Given the description of an element on the screen output the (x, y) to click on. 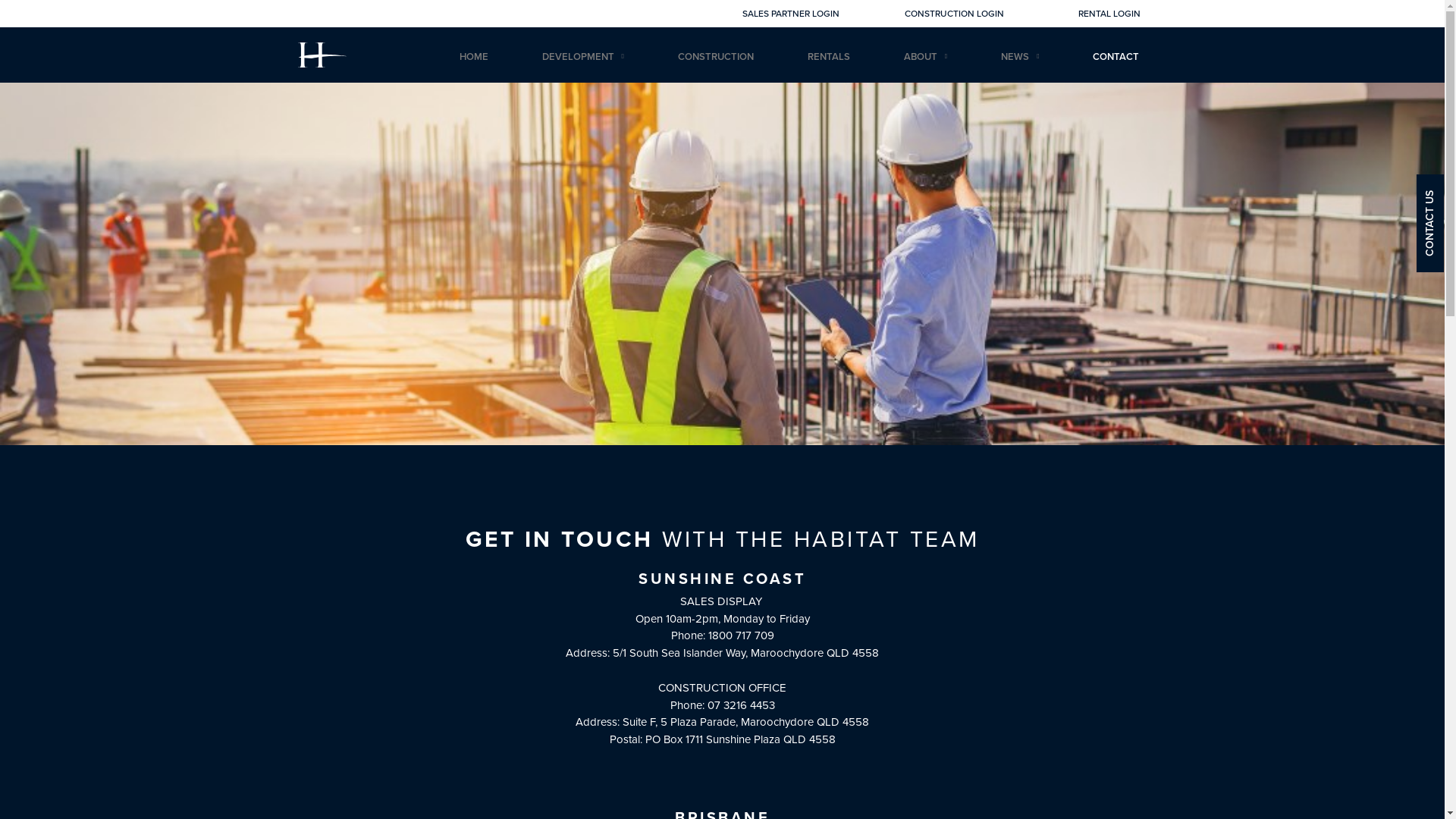
SALES PARTNER LOGIN Element type: text (790, 13)
HOME Element type: text (473, 56)
NEWS Element type: text (1019, 56)
CONTACT Element type: text (1115, 56)
RENTAL LOGIN Element type: text (1109, 13)
CONSTRUCTION LOGIN Element type: text (954, 13)
CONSTRUCTION Element type: text (715, 56)
RENTALS Element type: text (828, 56)
DEVELOPMENT Element type: text (582, 56)
ABOUT Element type: text (925, 56)
